Given the description of an element on the screen output the (x, y) to click on. 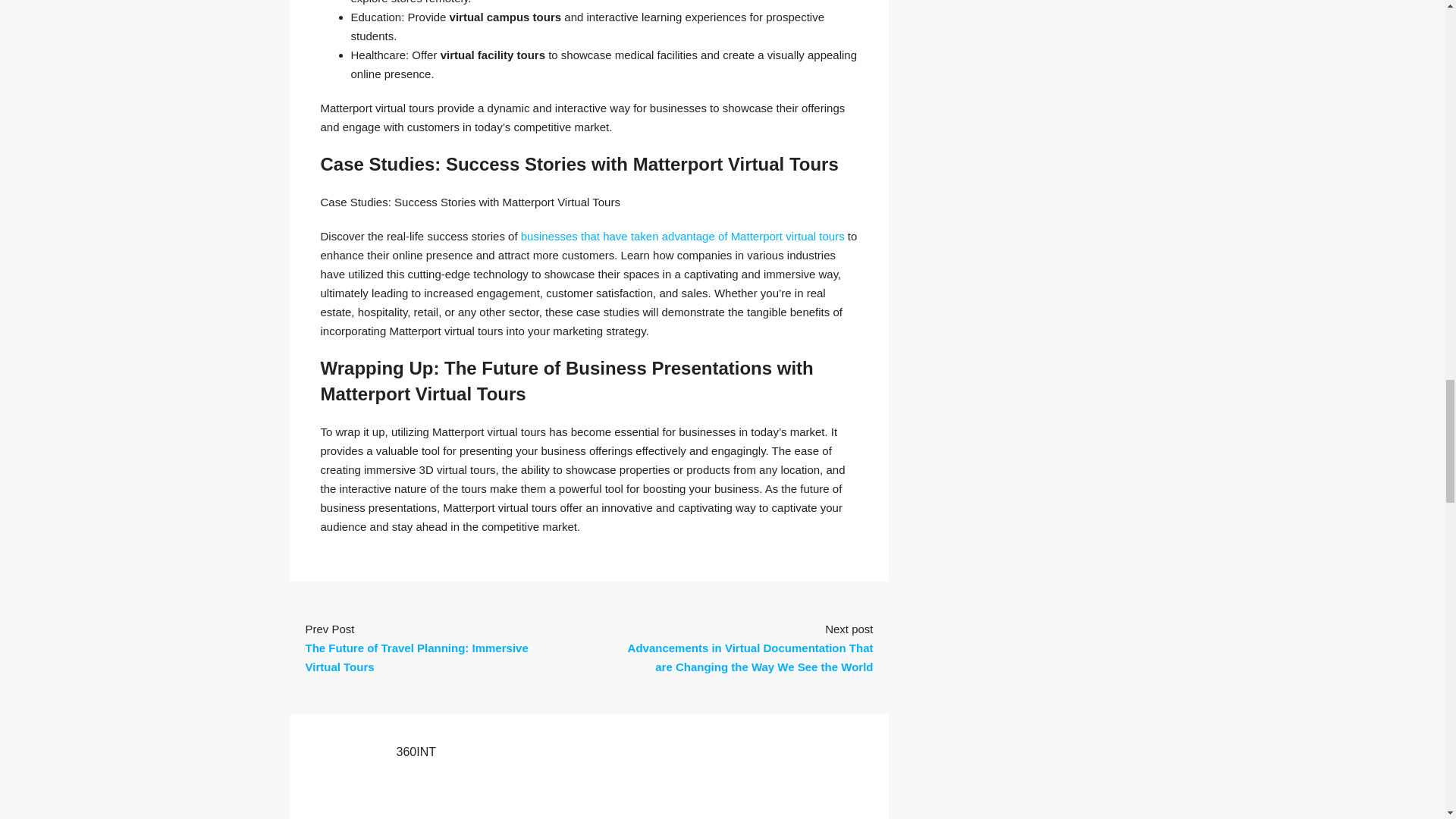
The Future of Travel Planning: Immersive Virtual Tours (415, 657)
